Given the description of an element on the screen output the (x, y) to click on. 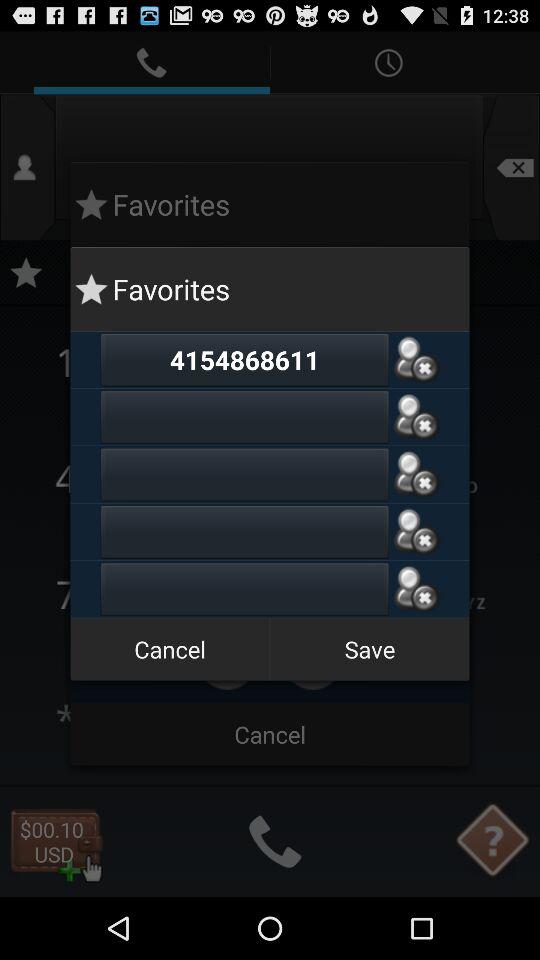
offline (416, 359)
